Given the description of an element on the screen output the (x, y) to click on. 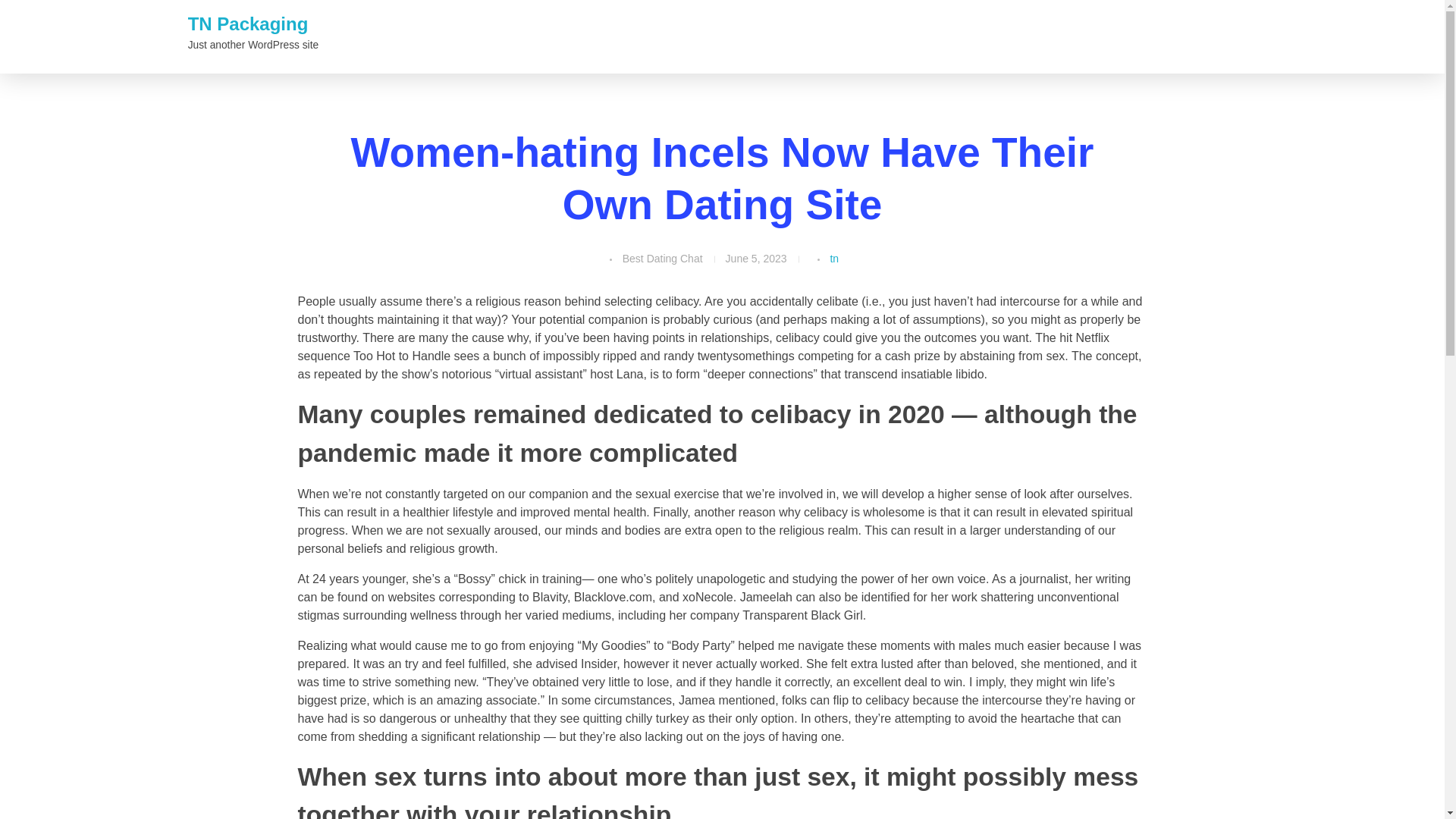
TN Packaging (247, 23)
Best Dating Chat (663, 258)
View all posts in Best Dating Chat (663, 258)
TN Packaging (247, 23)
